Given the description of an element on the screen output the (x, y) to click on. 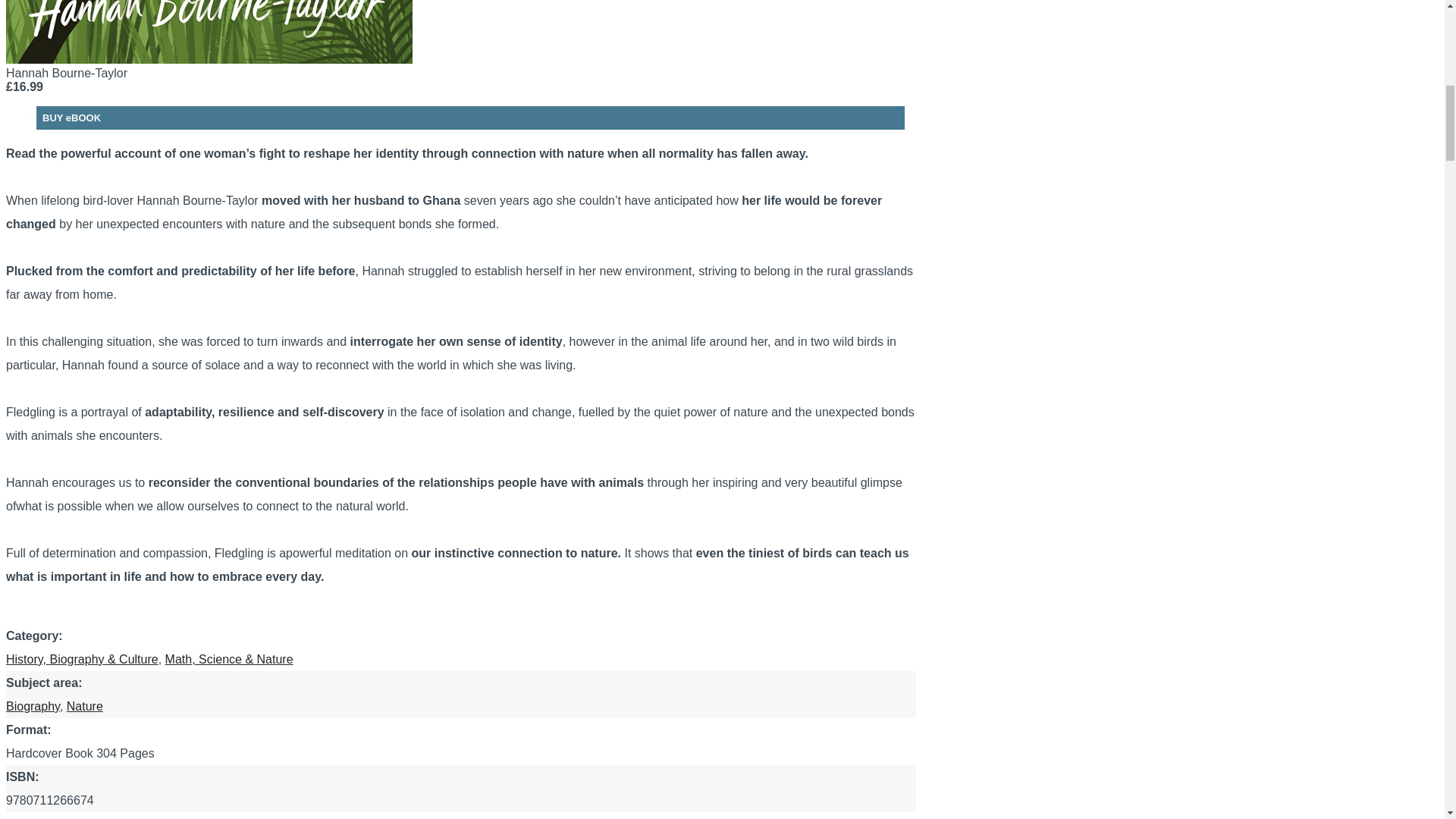
BUY eBOOK (32, 706)
